Given the description of an element on the screen output the (x, y) to click on. 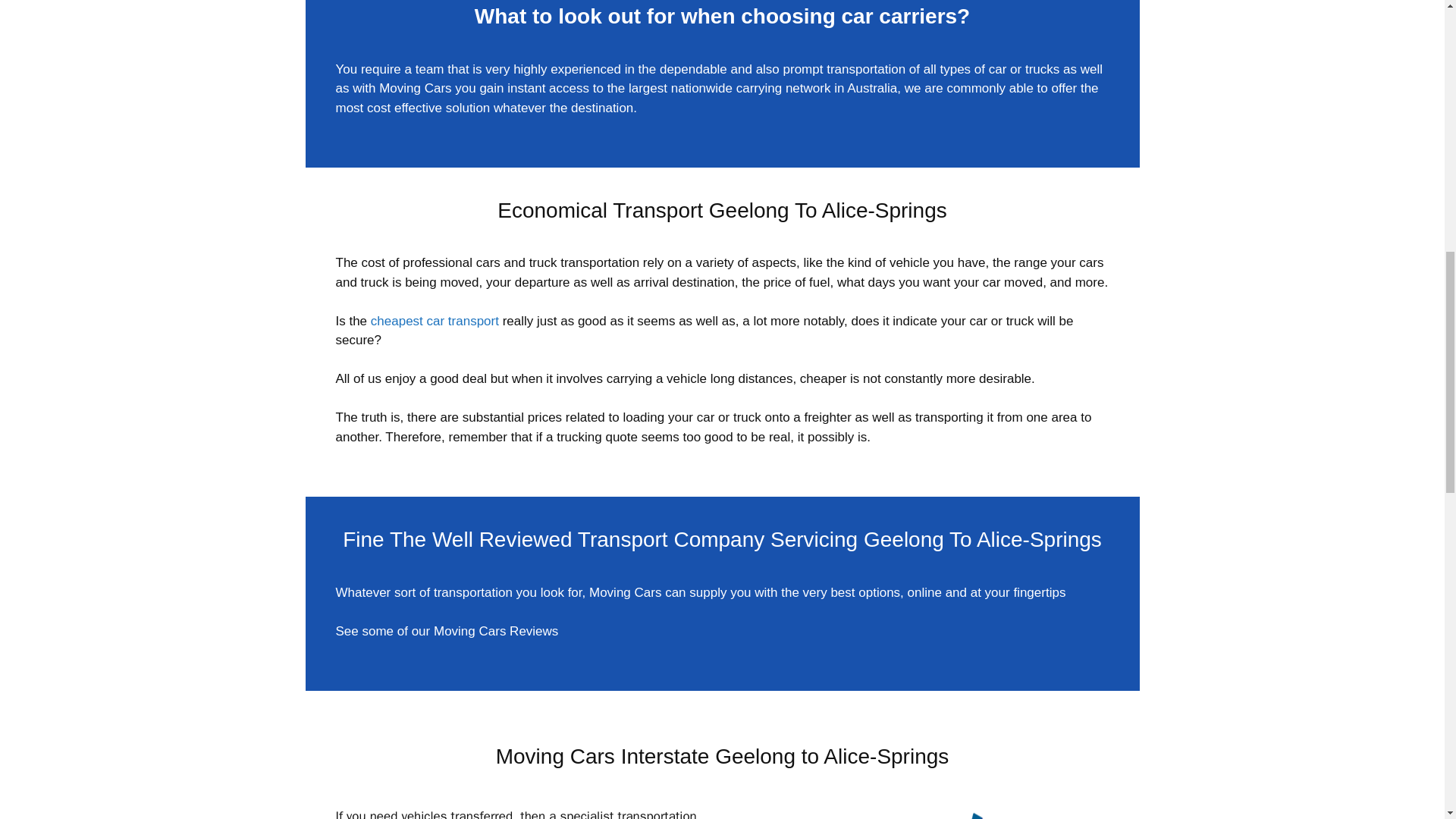
cheapest car transport (435, 320)
Moving Cars Reviews (495, 631)
Interstate Vehicle Moving (922, 812)
Moving Cars (414, 88)
